Given the description of an element on the screen output the (x, y) to click on. 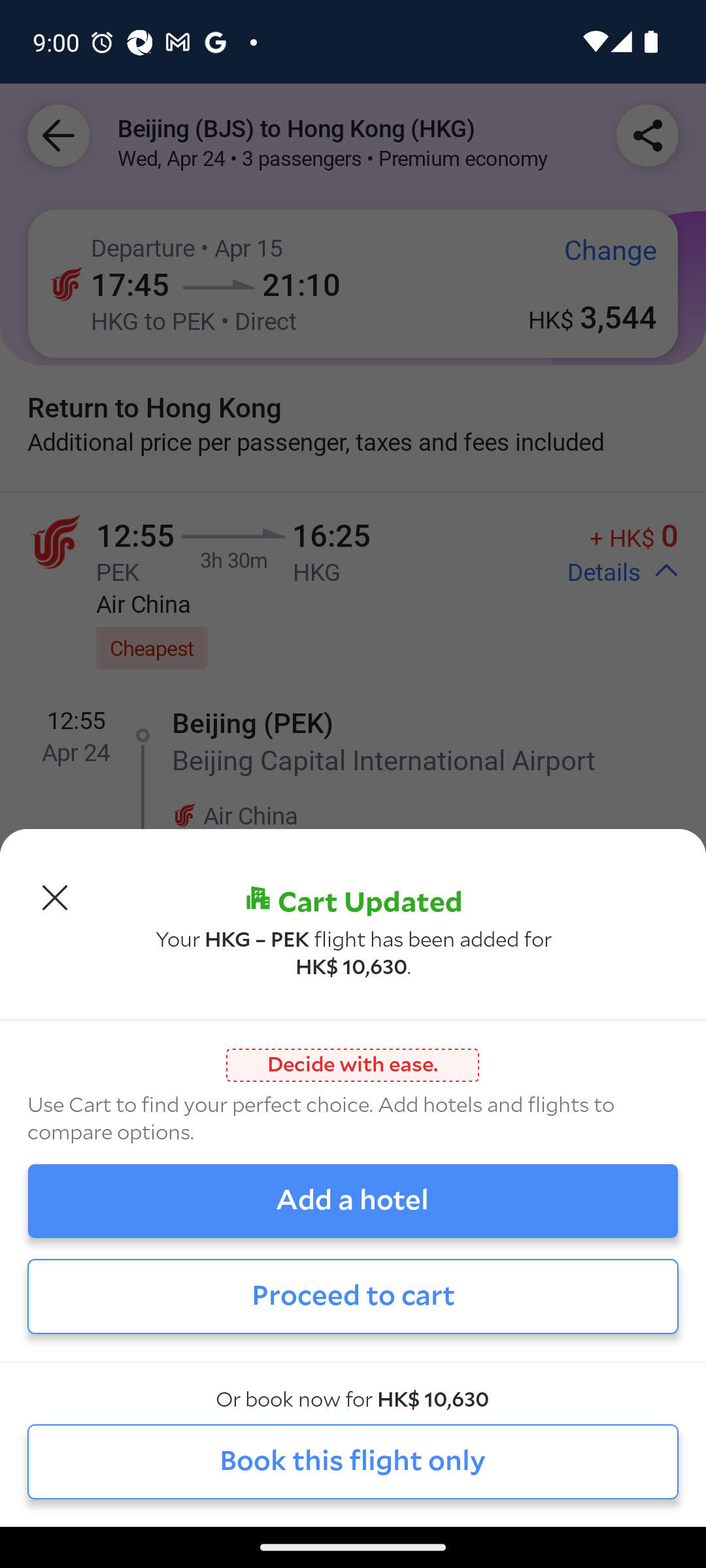
Add a hotel  Add a hotel (352, 1200)
Proceed to cart  Proceed to cart (352, 1296)
Book this flight only  Book this flight only (352, 1461)
